Given the description of an element on the screen output the (x, y) to click on. 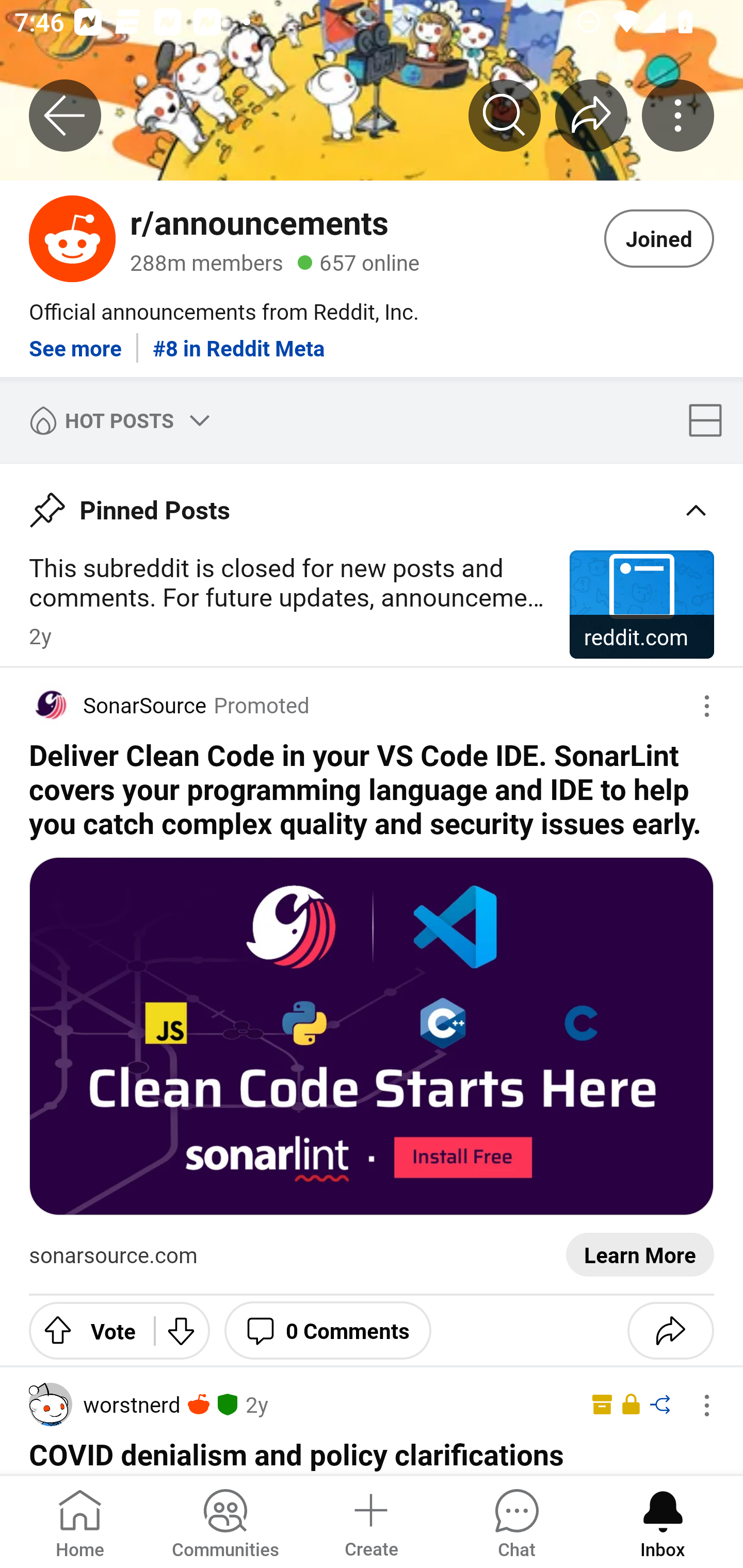
Back (64, 115)
Search r/﻿announcements (504, 115)
Share r/﻿announcements (591, 115)
More community actions (677, 115)
See more (74, 340)
#8 in Reddit Meta (239, 340)
HOT POSTS Sort by Hot posts (115, 420)
Card display (711, 420)
Pin Pinned Posts Caret (371, 503)
Author SonarSource (117, 704)
Image (371, 1035)
sonarsource.com (112, 1255)
Learn More (640, 1255)
Upvote Vote (83, 1330)
Downvote (181, 1330)
0 Comments (327, 1330)
Share (670, 1330)
Author worstnerd (104, 1403)
Archived Locked Crosspost (626, 1404)
Home (80, 1520)
Communities (225, 1520)
Create a post Create (370, 1520)
Chat (516, 1520)
Inbox (662, 1520)
